Given the description of an element on the screen output the (x, y) to click on. 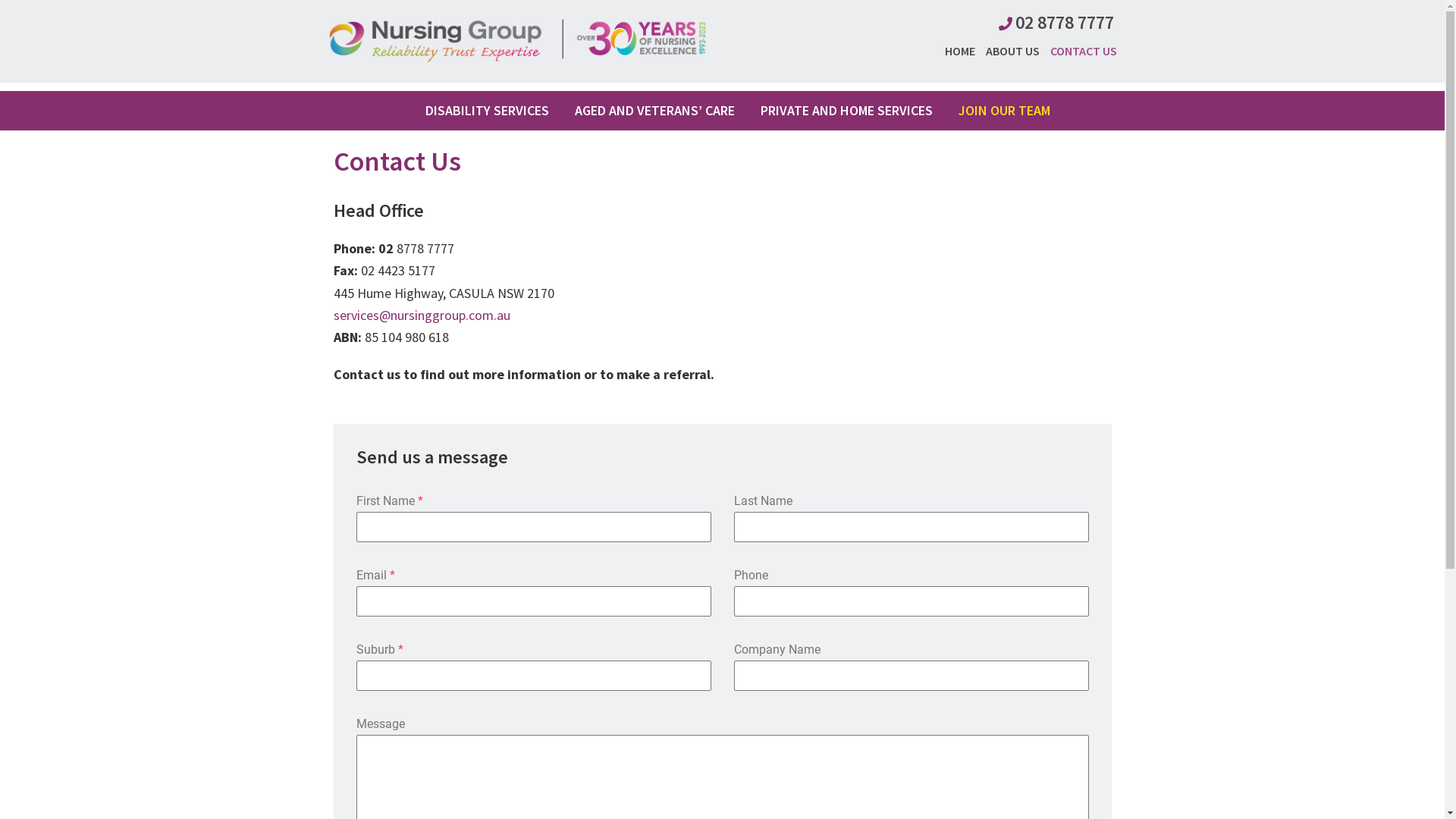
DISABILITY SERVICES Element type: text (487, 110)
02 8778 7777 Element type: text (1063, 22)
CONTACT US Element type: text (1078, 50)
HOME Element type: text (956, 50)
services@nursinggroup.com.au Element type: text (421, 314)
JOIN OUR TEAM Element type: text (1003, 110)
ABOUT US Element type: text (1008, 50)
Skip to primary navigation Element type: text (0, 0)
PRIVATE AND HOME SERVICES Element type: text (846, 110)
